Given the description of an element on the screen output the (x, y) to click on. 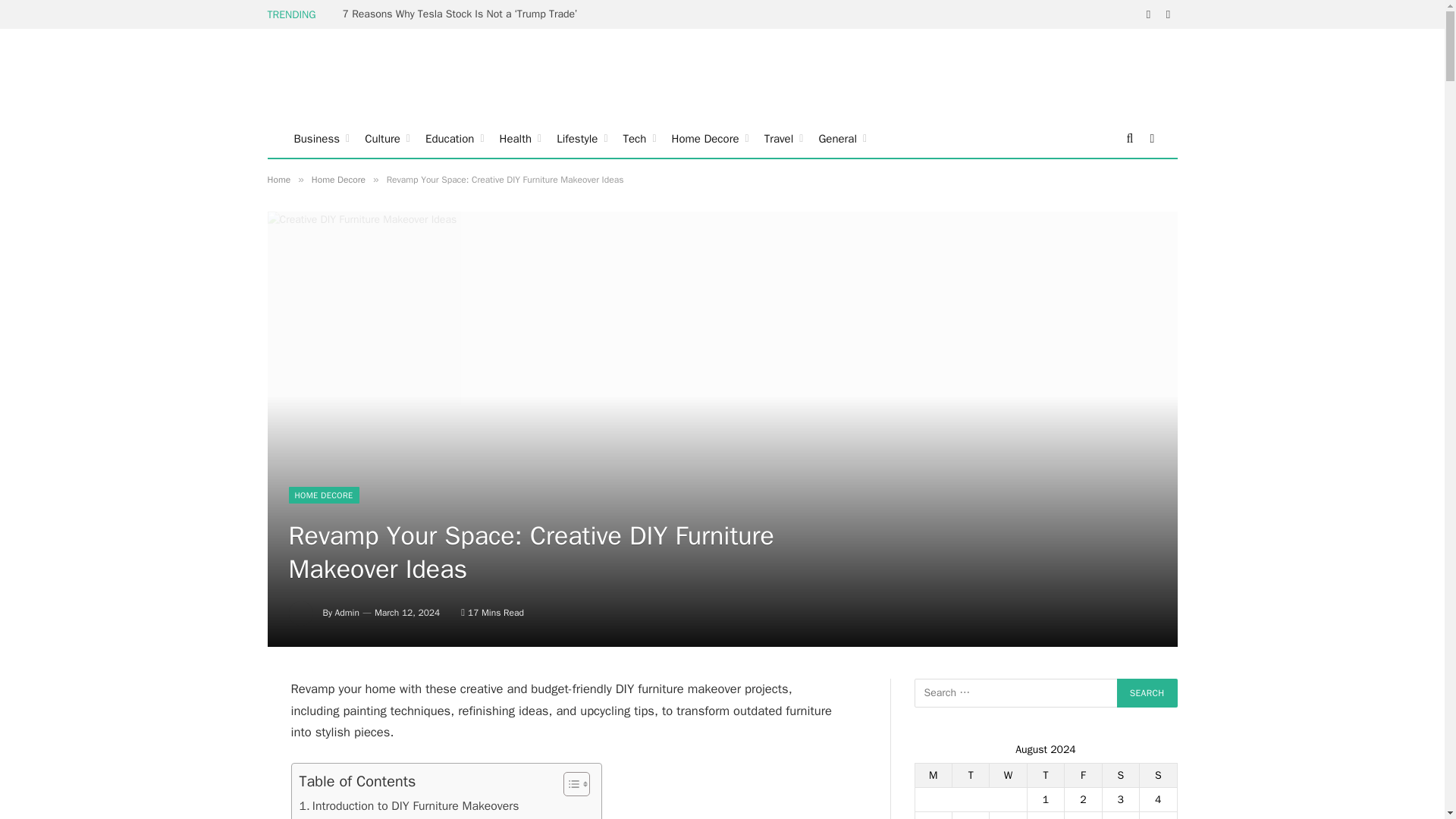
Business (322, 138)
Search (1146, 692)
Culture (386, 138)
Education (454, 138)
Search (1146, 692)
